Given the description of an element on the screen output the (x, y) to click on. 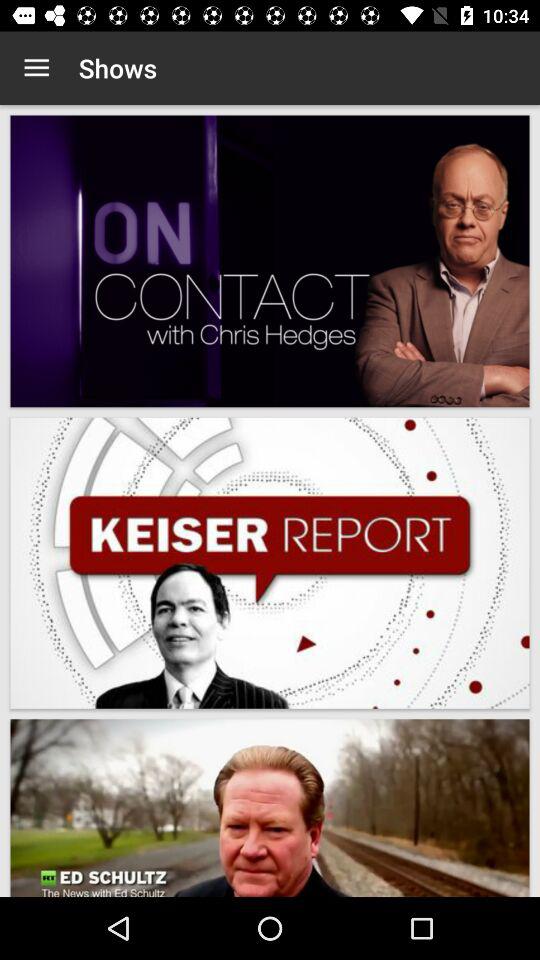
press the item to the left of the shows icon (36, 68)
